Given the description of an element on the screen output the (x, y) to click on. 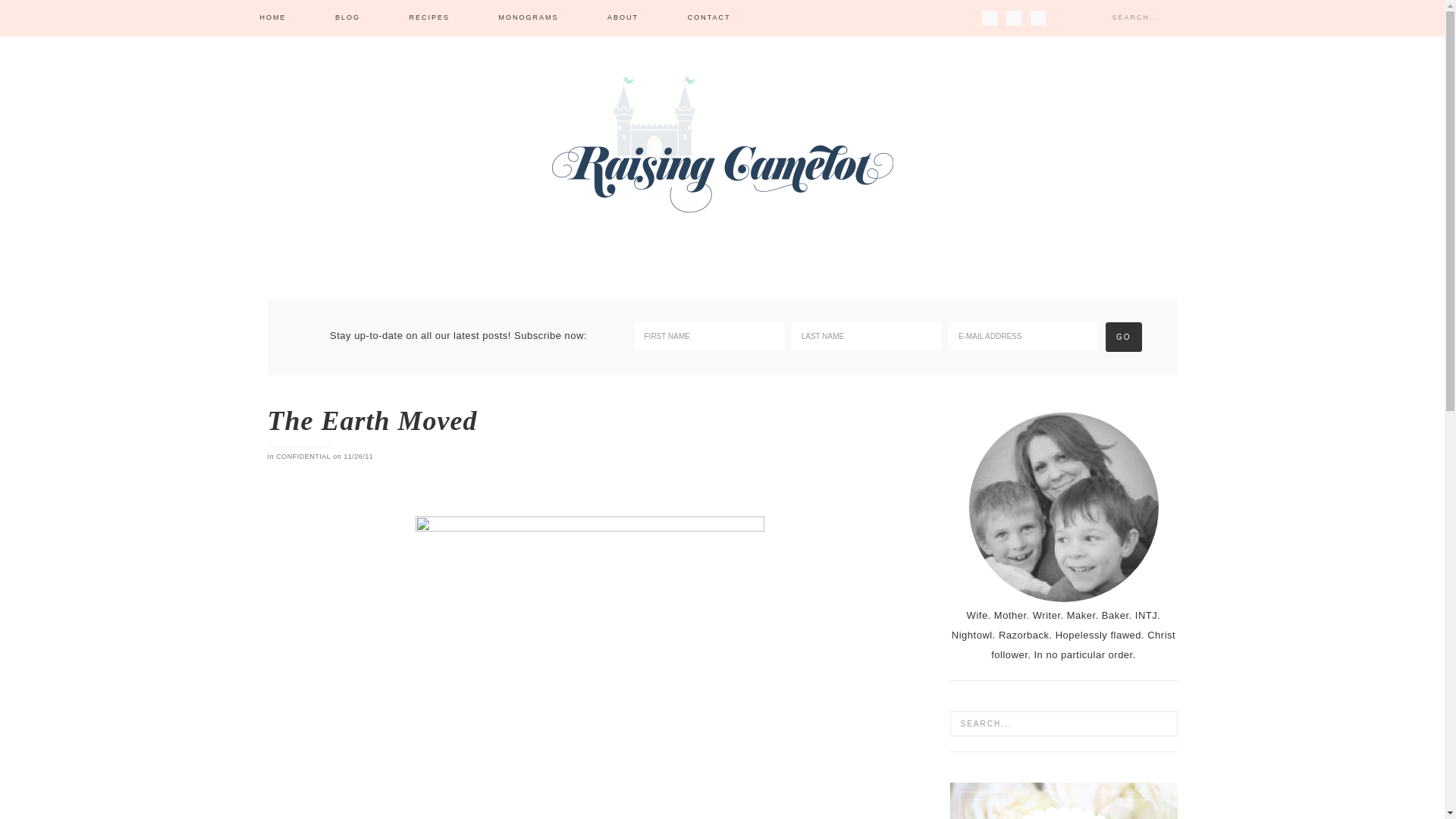
ABOUT (623, 18)
MONOGRAMS (528, 18)
CONFIDENTIAL (303, 456)
Go (1123, 337)
